Given the description of an element on the screen output the (x, y) to click on. 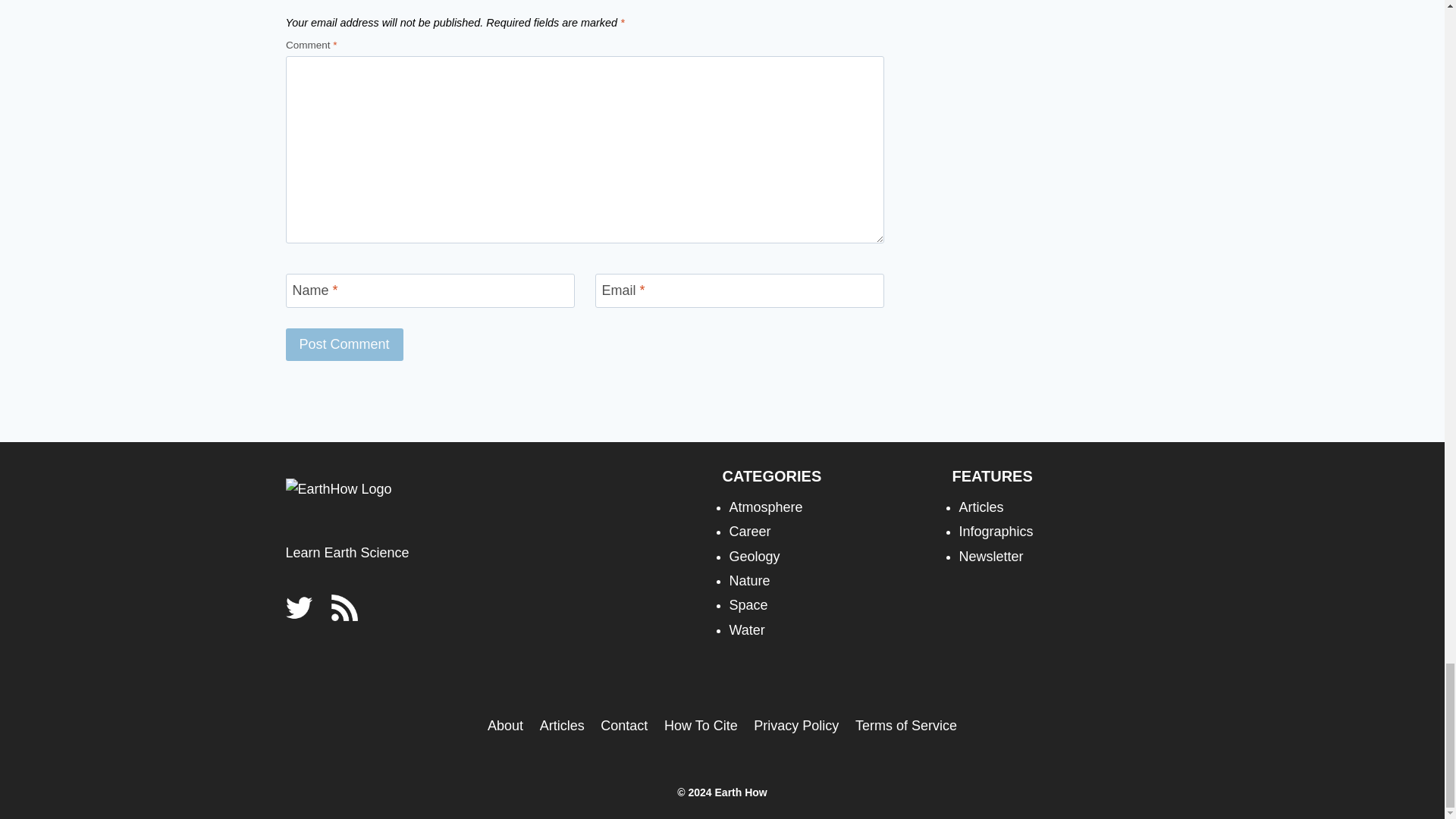
Post Comment (344, 344)
